Given the description of an element on the screen output the (x, y) to click on. 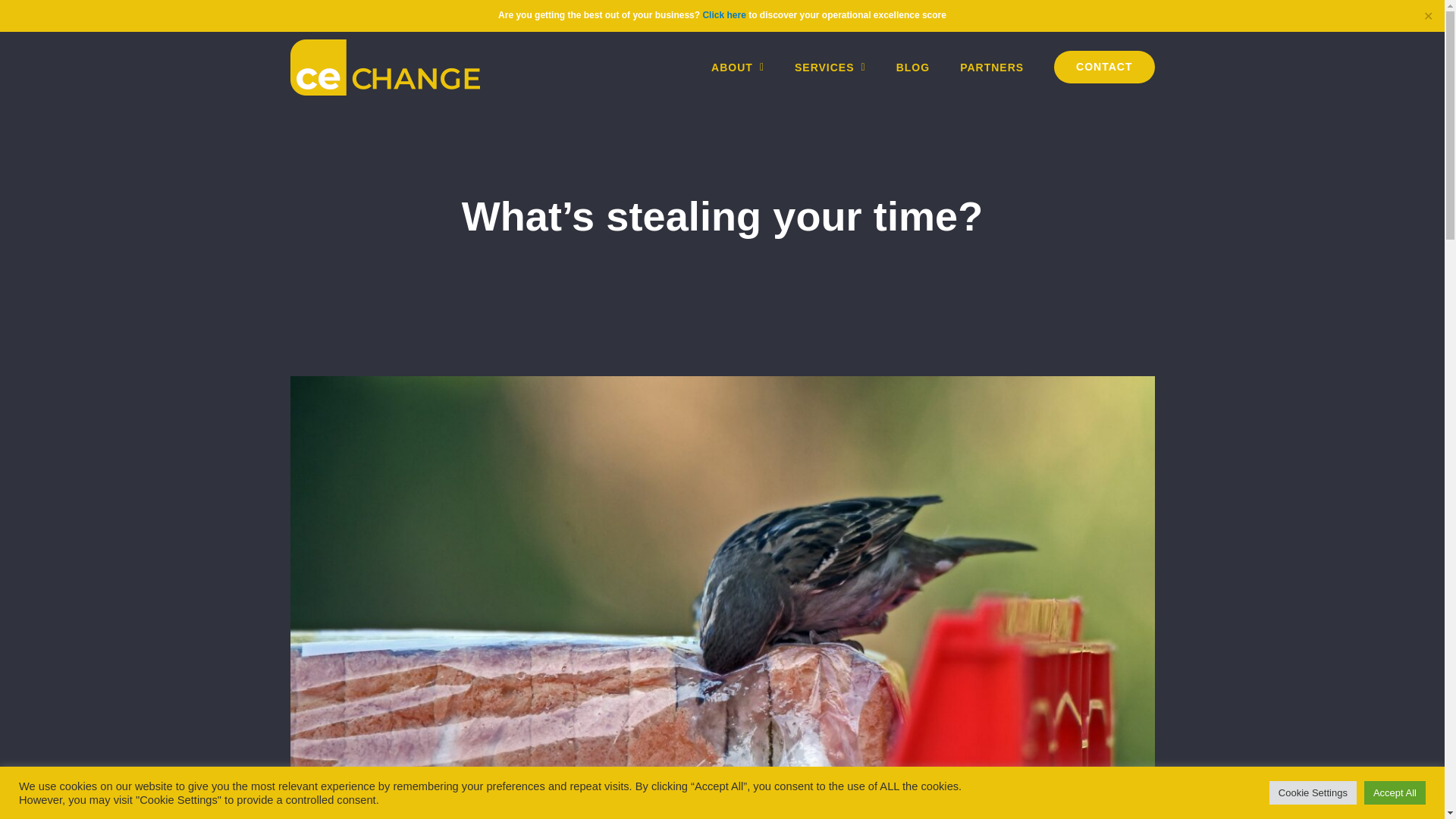
SERVICES (830, 67)
View Larger Image (991, 67)
Click here (1104, 67)
